Given the description of an element on the screen output the (x, y) to click on. 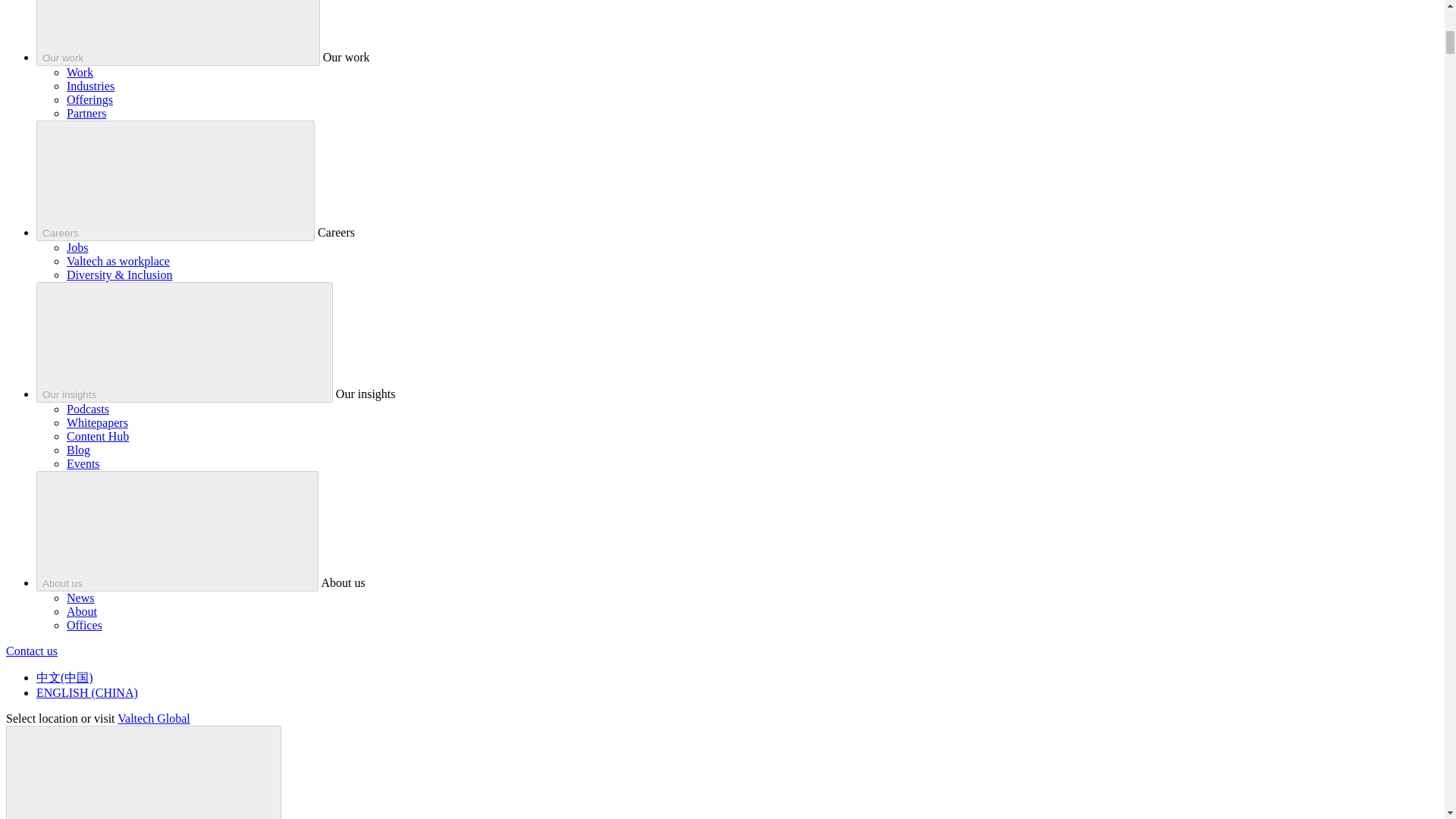
Podcasts (87, 408)
Offices (83, 625)
Valtech as workplace (118, 260)
About (81, 611)
Content Hub (97, 436)
Partners (86, 113)
About us (177, 530)
Work (79, 72)
Valtech Global (153, 717)
News (80, 597)
Blog (78, 449)
Contact us (31, 650)
Jobs (76, 246)
Careers (175, 180)
Industries (90, 85)
